Given the description of an element on the screen output the (x, y) to click on. 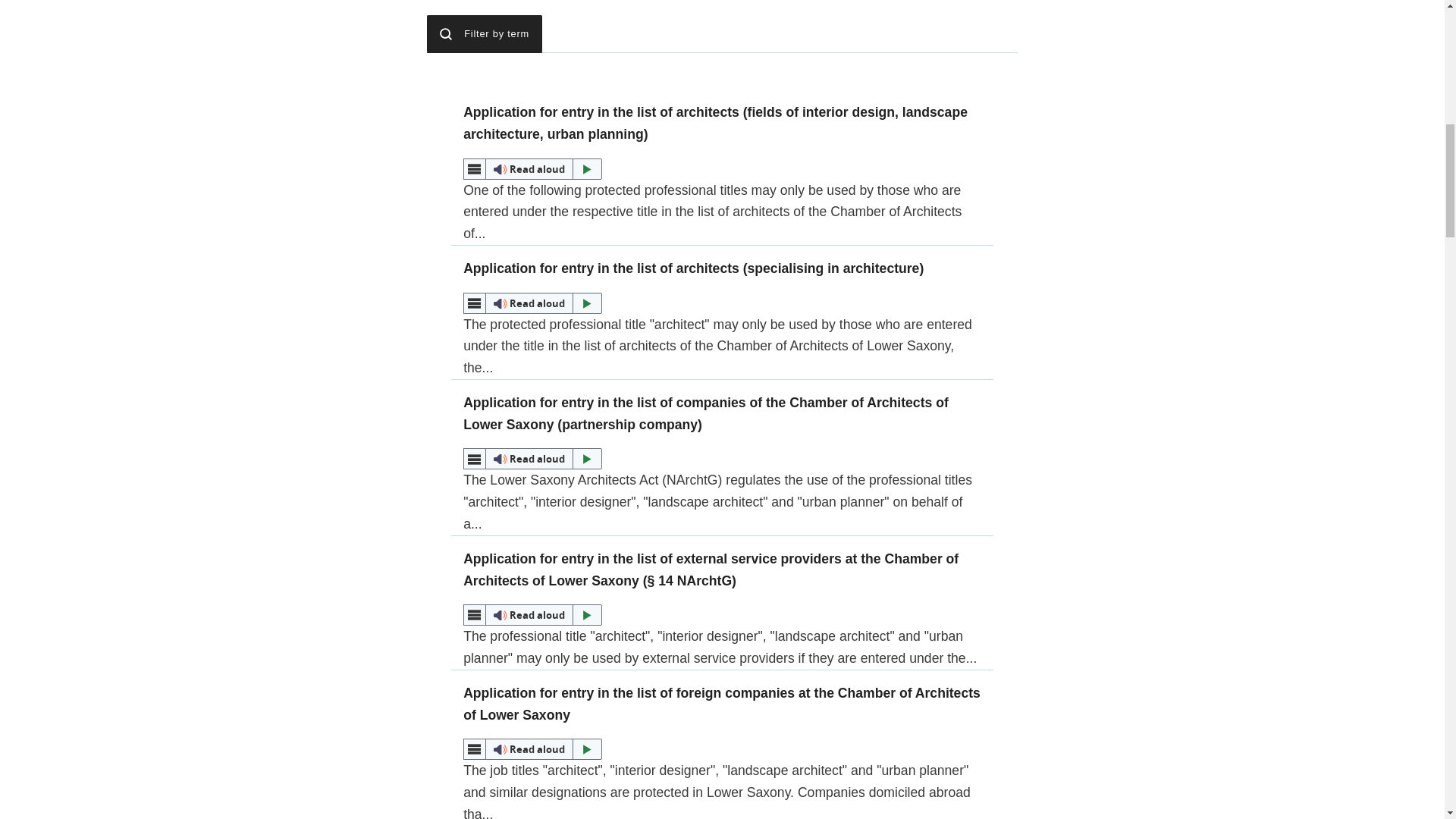
webReader menu (474, 168)
webReader menu (474, 302)
To listen to the text, please use ReadSpeaker (532, 168)
